Given the description of an element on the screen output the (x, y) to click on. 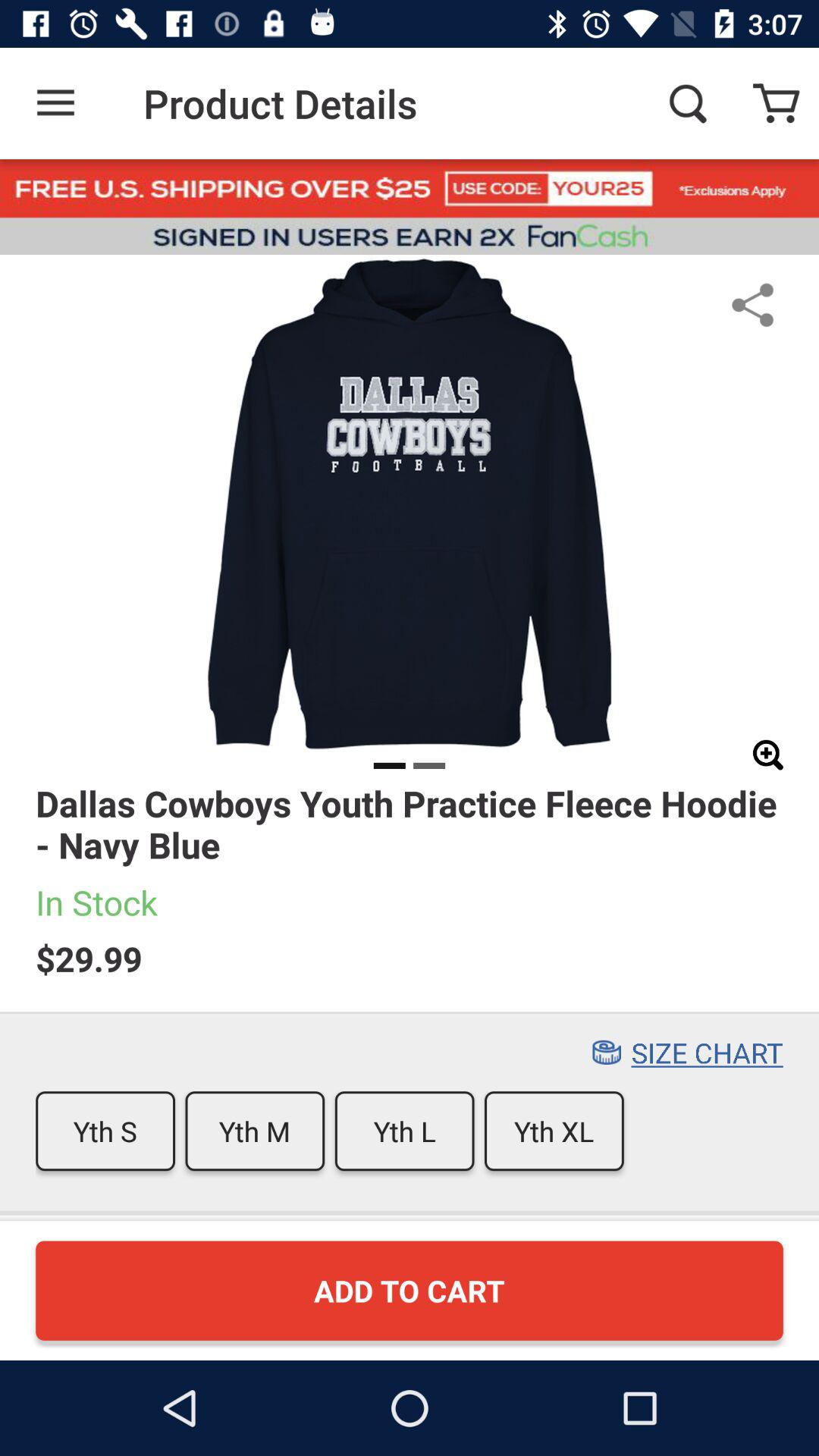
turn off the yth m item (254, 1131)
